Given the description of an element on the screen output the (x, y) to click on. 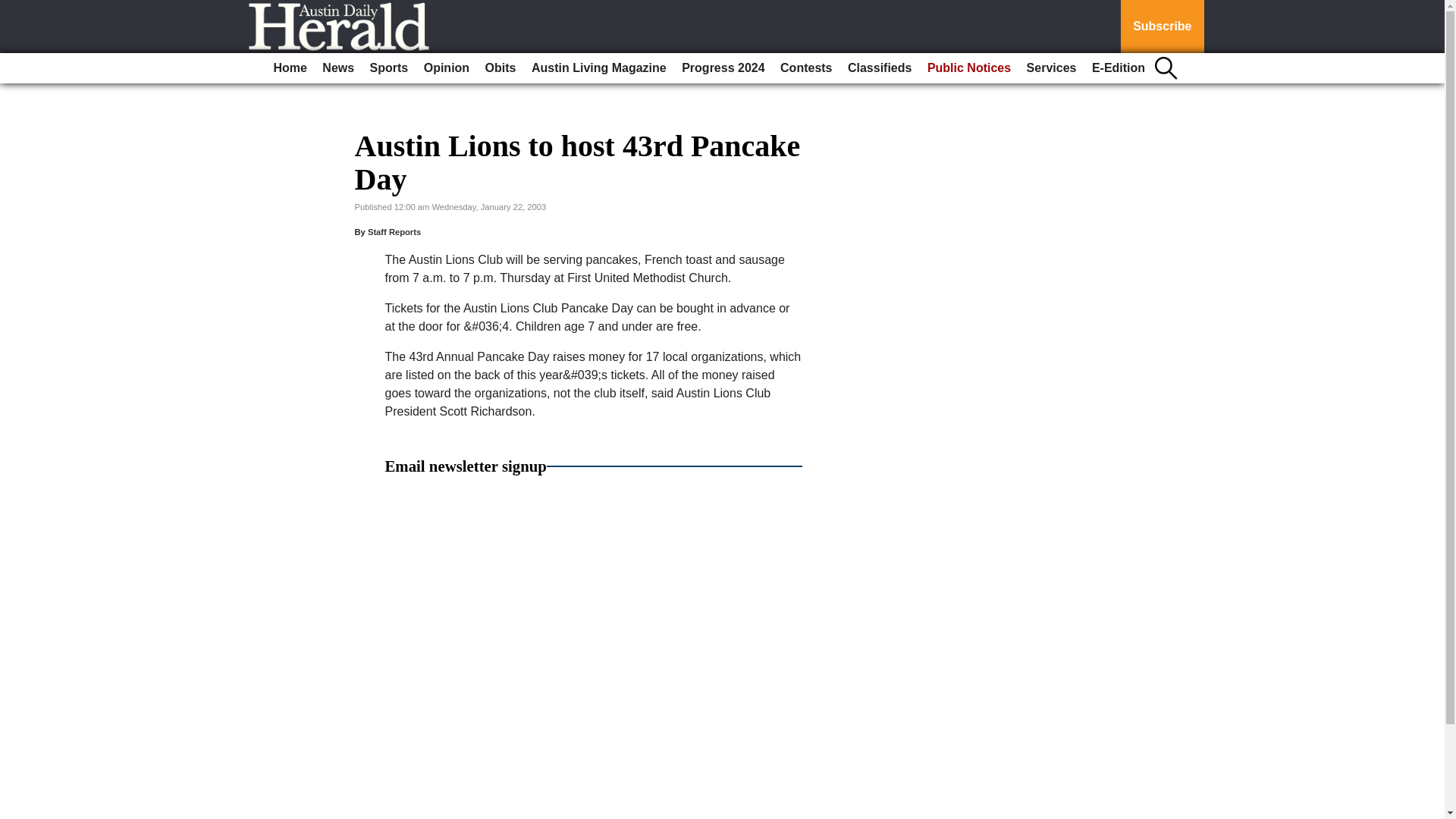
Sports (389, 68)
Opinion (446, 68)
Contests (806, 68)
Obits (500, 68)
Classifieds (879, 68)
Austin Living Magazine (598, 68)
Home (289, 68)
Public Notices (968, 68)
News (337, 68)
Services (1051, 68)
